Given the description of an element on the screen output the (x, y) to click on. 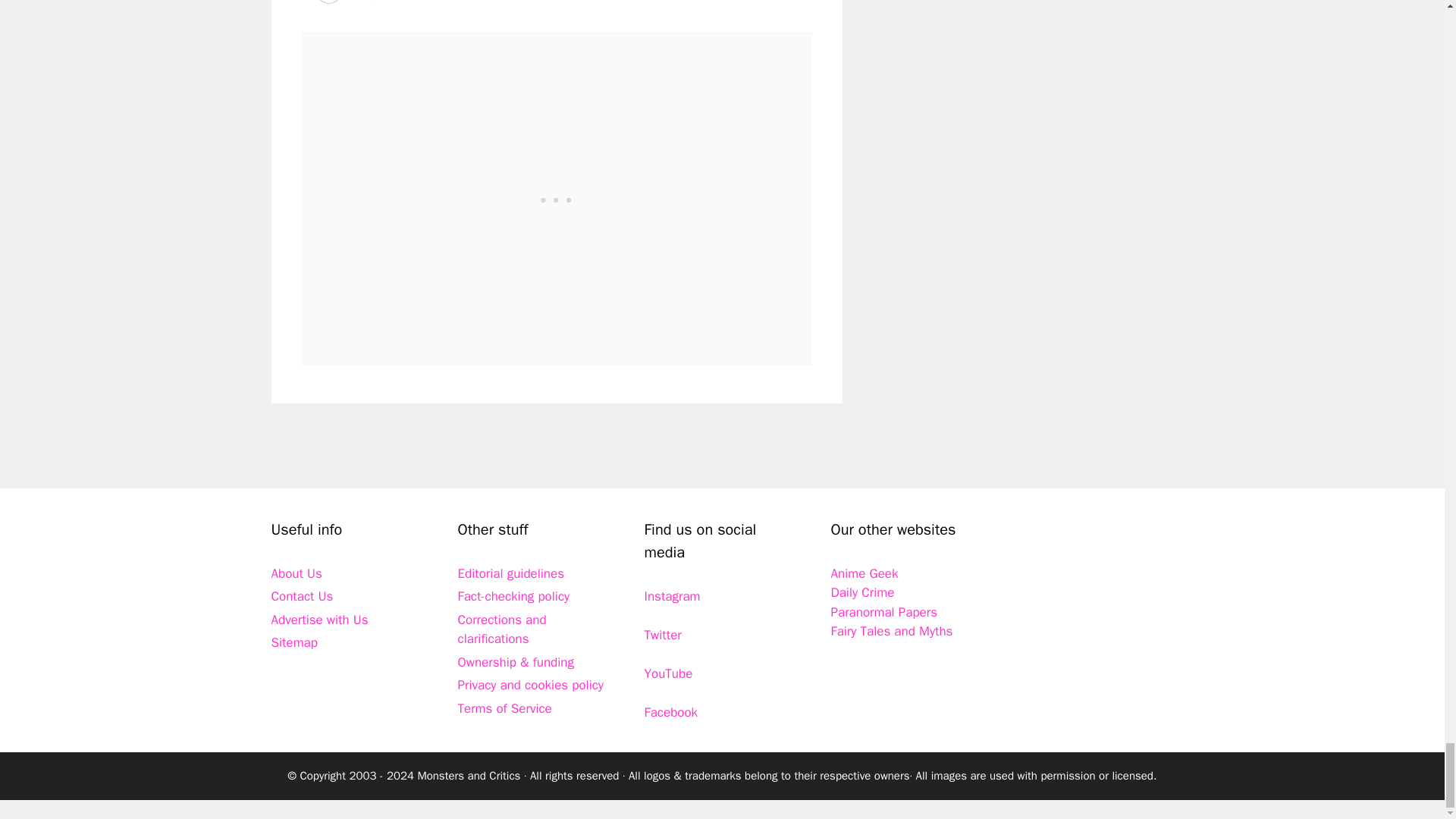
Contact Us (301, 596)
About Us (295, 573)
